Given the description of an element on the screen output the (x, y) to click on. 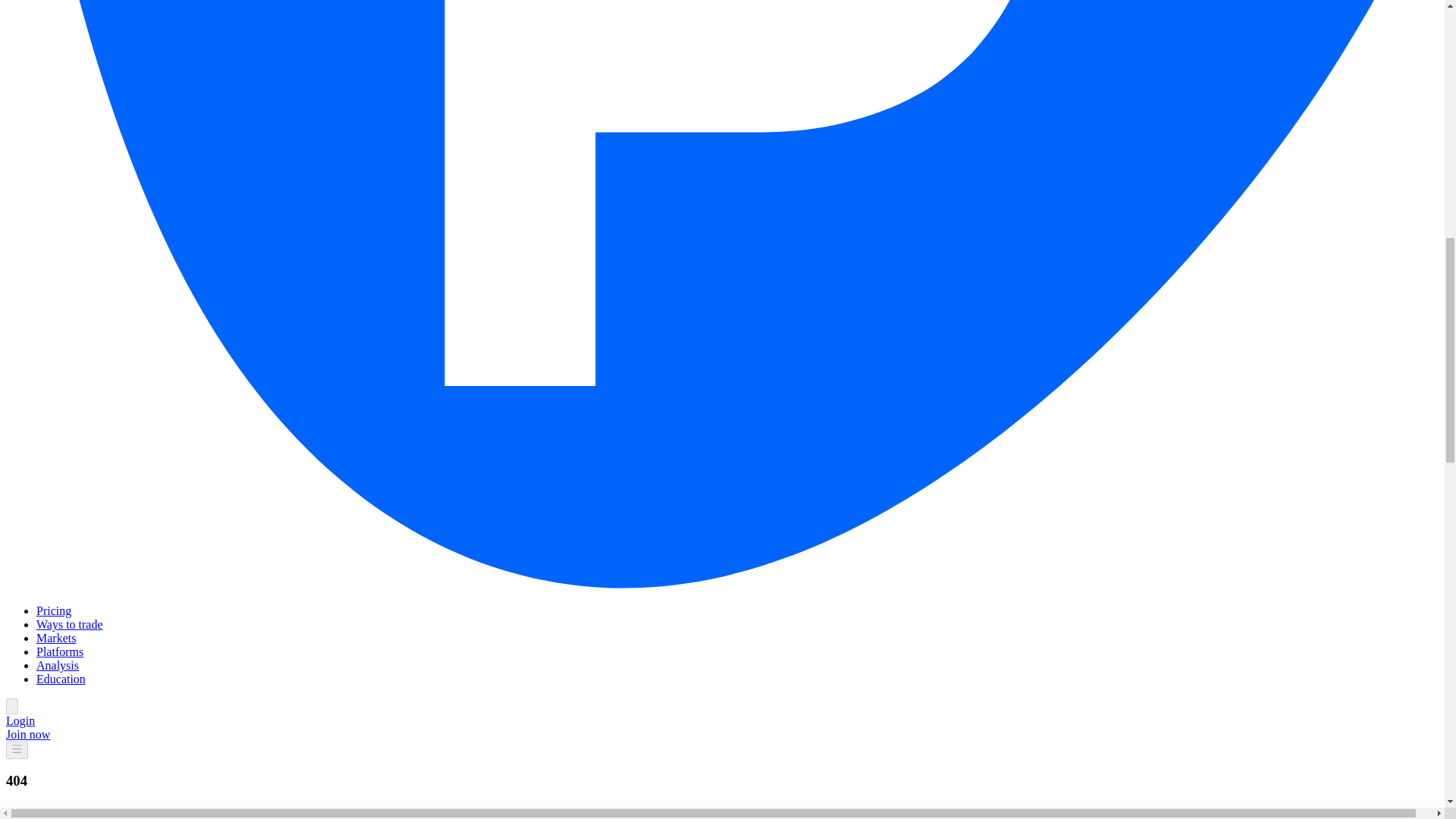
Platforms (59, 651)
Analysis (57, 665)
Education (60, 678)
Markets (55, 637)
Login (19, 720)
Platforms (59, 651)
Pricing (53, 610)
Ways to trade (69, 624)
Education (60, 678)
Ways to trade (69, 624)
Analysis (57, 665)
Login (19, 720)
Markets (55, 637)
Join now (27, 734)
